Given the description of an element on the screen output the (x, y) to click on. 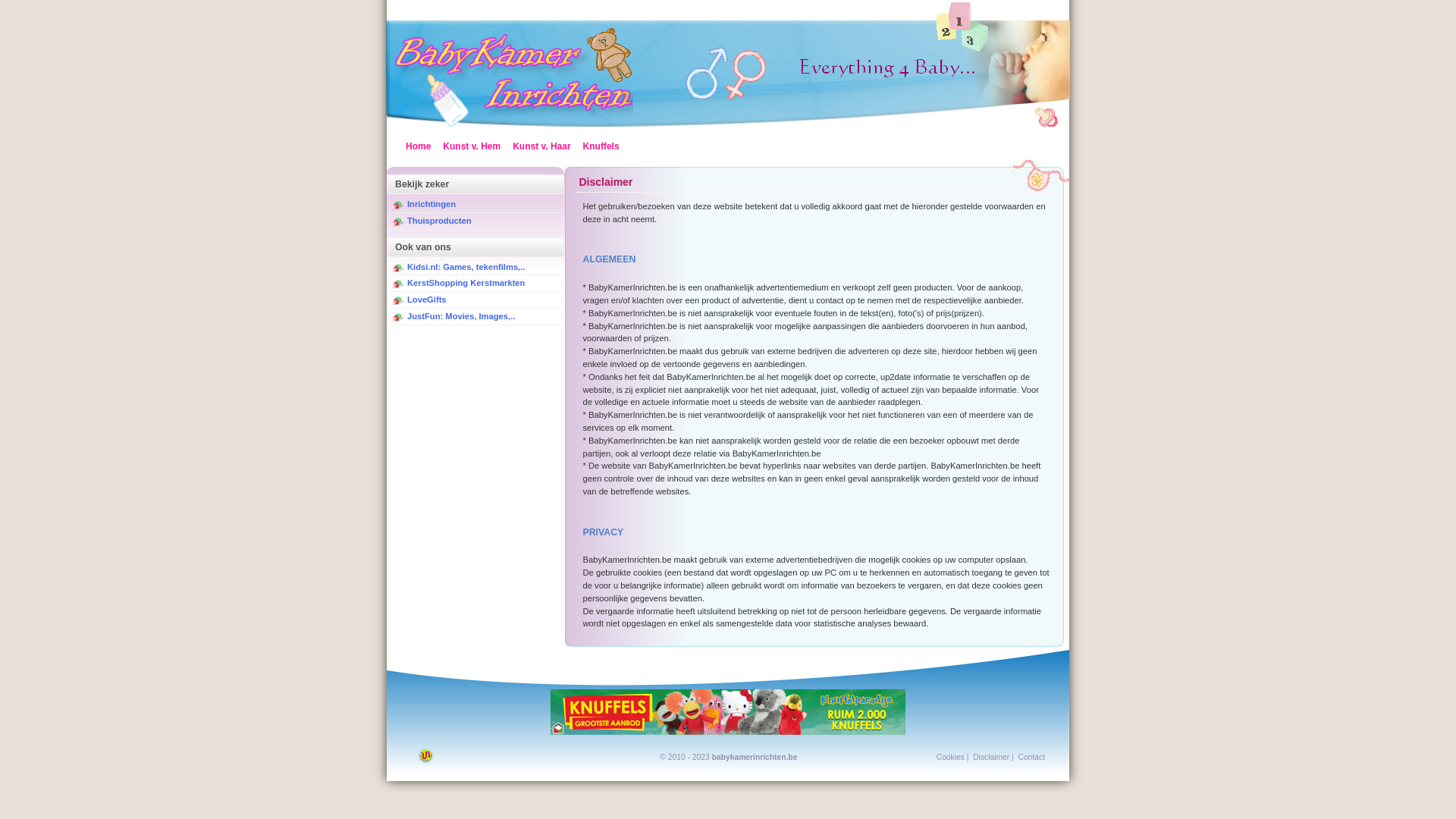
Inrichtingen Element type: text (431, 203)
Kunst v. Haar Element type: text (541, 146)
Kidsi.nl: Games, tekenfilms,.. Element type: text (465, 266)
Kunst v. Hem Element type: text (471, 146)
KerstShopping Kerstmarkten Element type: text (465, 282)
JustFun: Movies, Images,.. Element type: text (460, 315)
LoveGifts Element type: text (426, 299)
Contact Element type: text (1030, 757)
Thuisproducten Element type: text (439, 220)
Home Element type: hover (513, 123)
Home Element type: text (417, 146)
Disclaimer Element type: text (990, 757)
Knuffels Element type: text (601, 146)
Cookies Element type: text (950, 757)
